Given the description of an element on the screen output the (x, y) to click on. 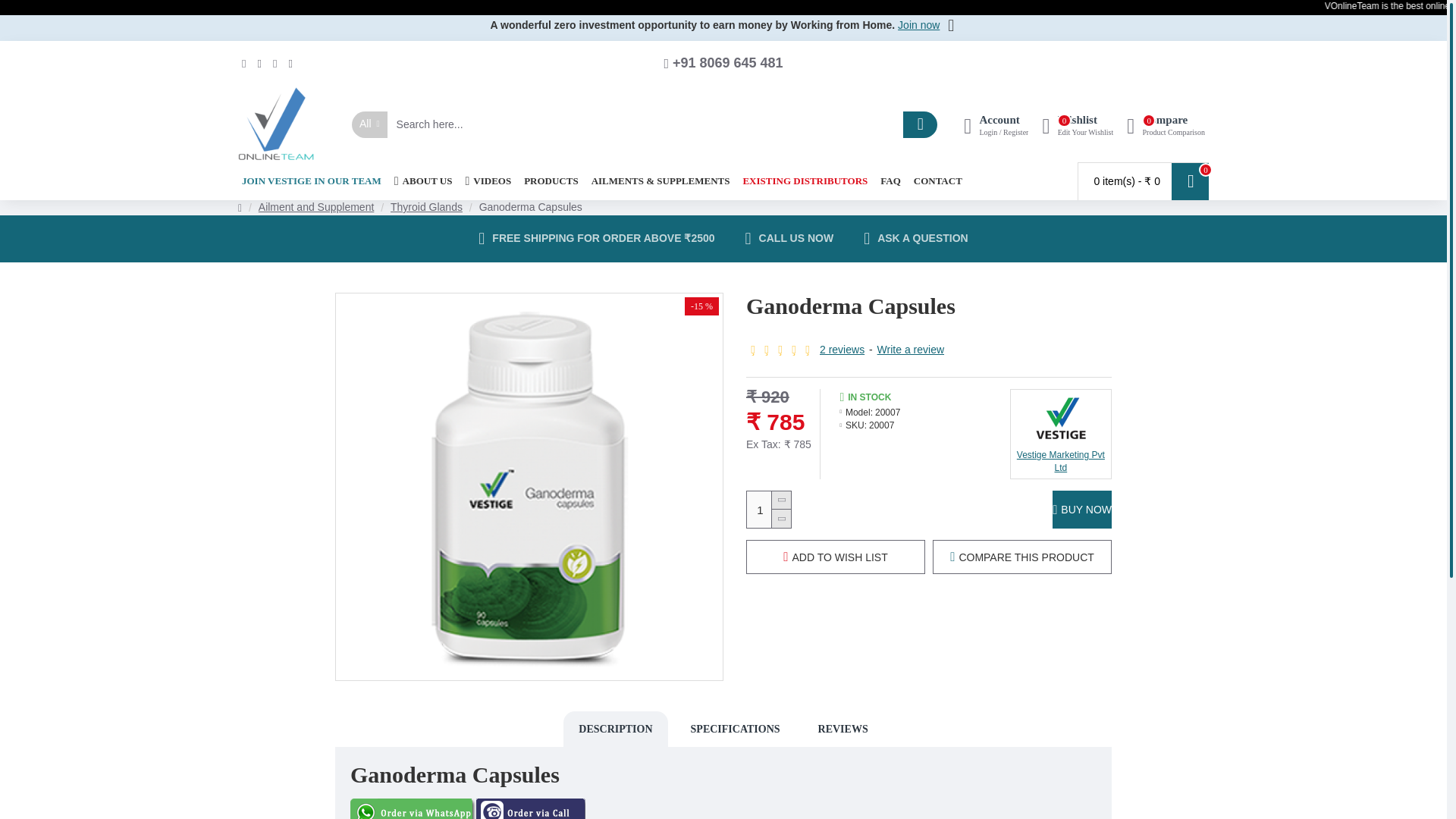
VIDEOS (488, 181)
PRODUCTS (550, 181)
1 (768, 509)
V Online Team::Secured (276, 124)
Join now (918, 25)
JOIN VESTIGE IN OUR TEAM (311, 181)
ABOUT US (1165, 124)
